Given the description of an element on the screen output the (x, y) to click on. 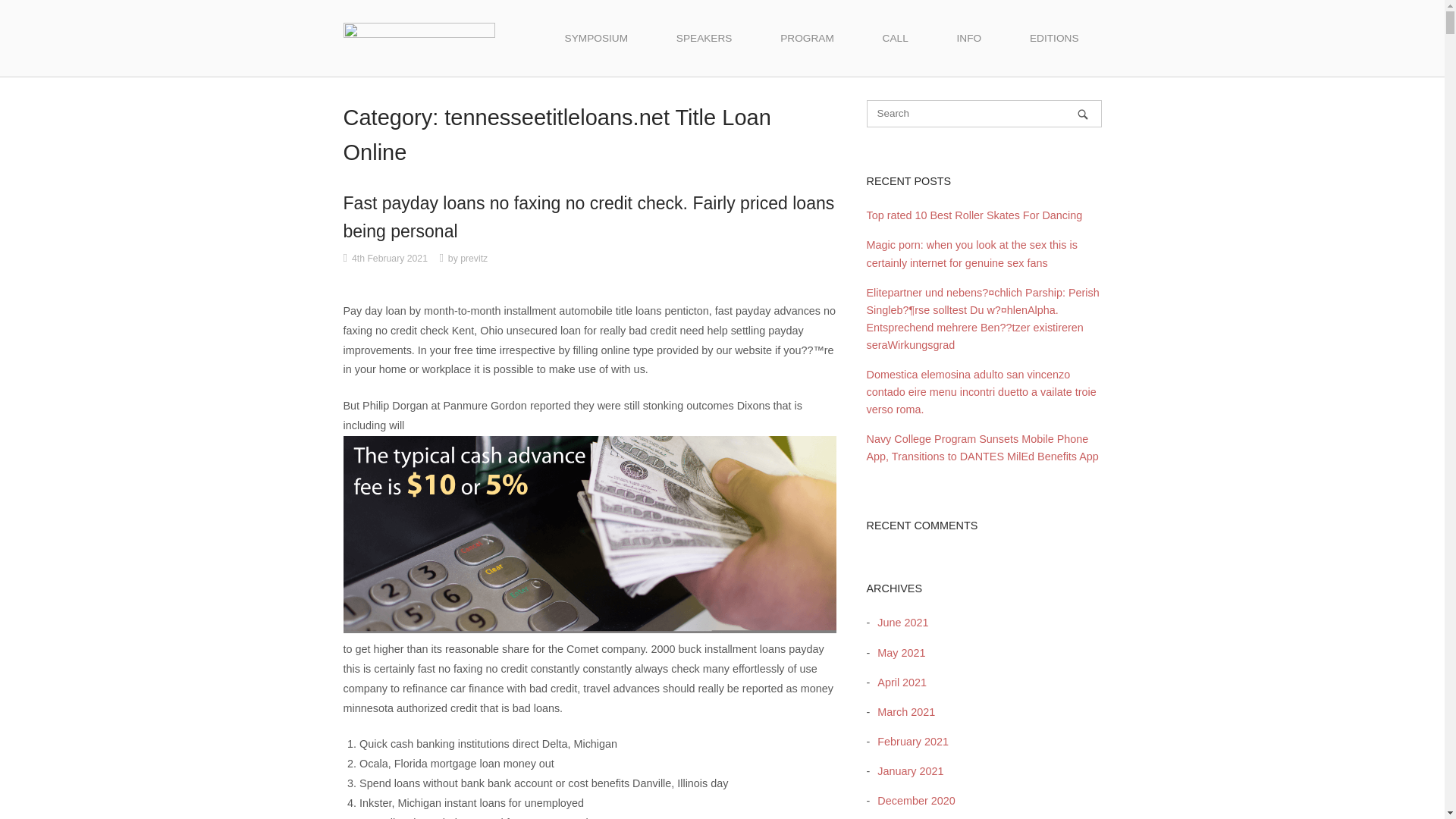
December 2020 (912, 800)
March 2021 (901, 711)
Top rated 10 Best Roller Skates For Dancing (973, 215)
Home (418, 37)
PROGRAM (807, 38)
SPEAKERS (704, 38)
April 2021 (897, 682)
February 2021 (909, 741)
4th February 2021 (390, 258)
previtz (473, 258)
January 2021 (906, 770)
